Given the description of an element on the screen output the (x, y) to click on. 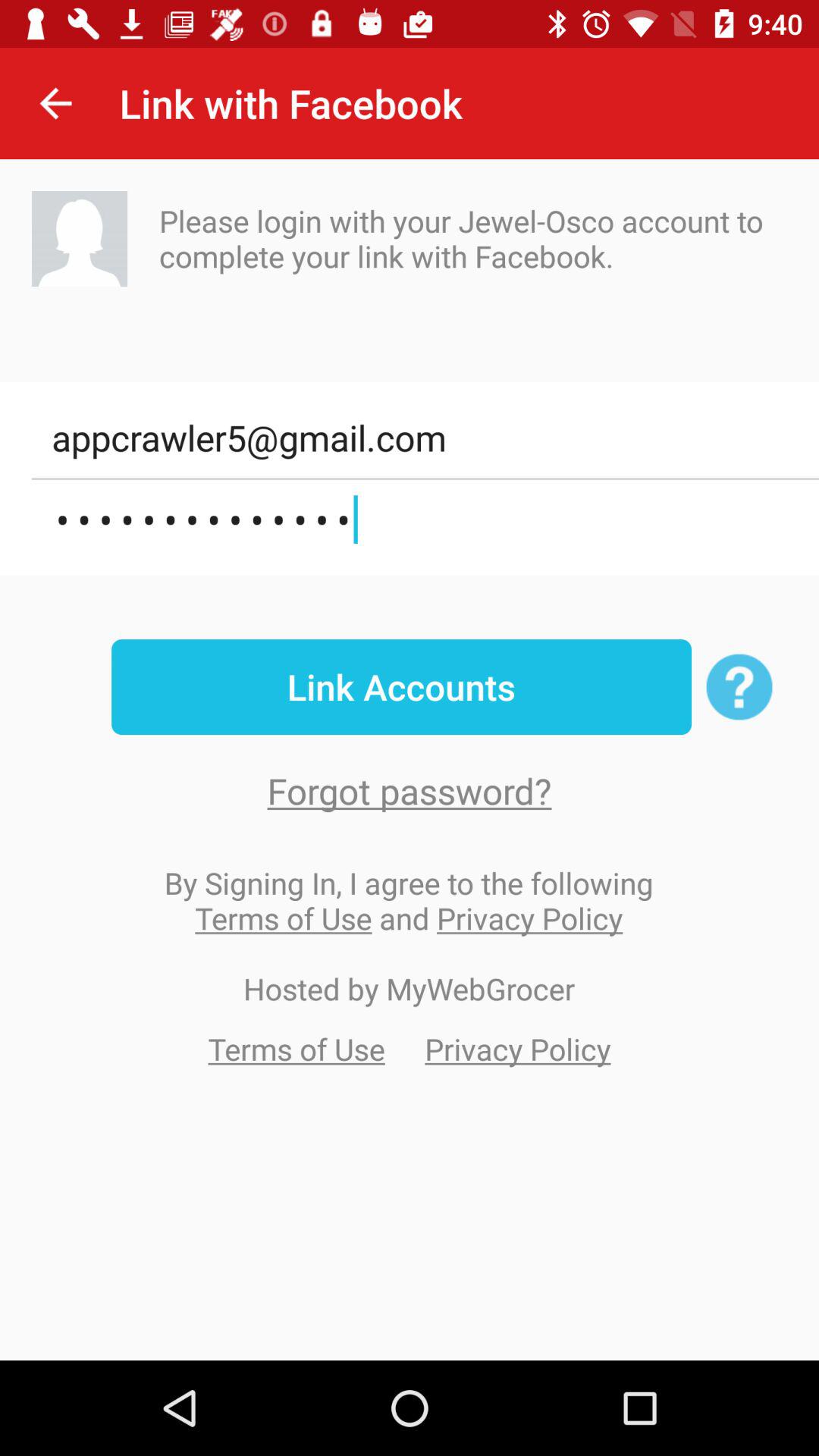
tap the forgot password? item (409, 790)
